Given the description of an element on the screen output the (x, y) to click on. 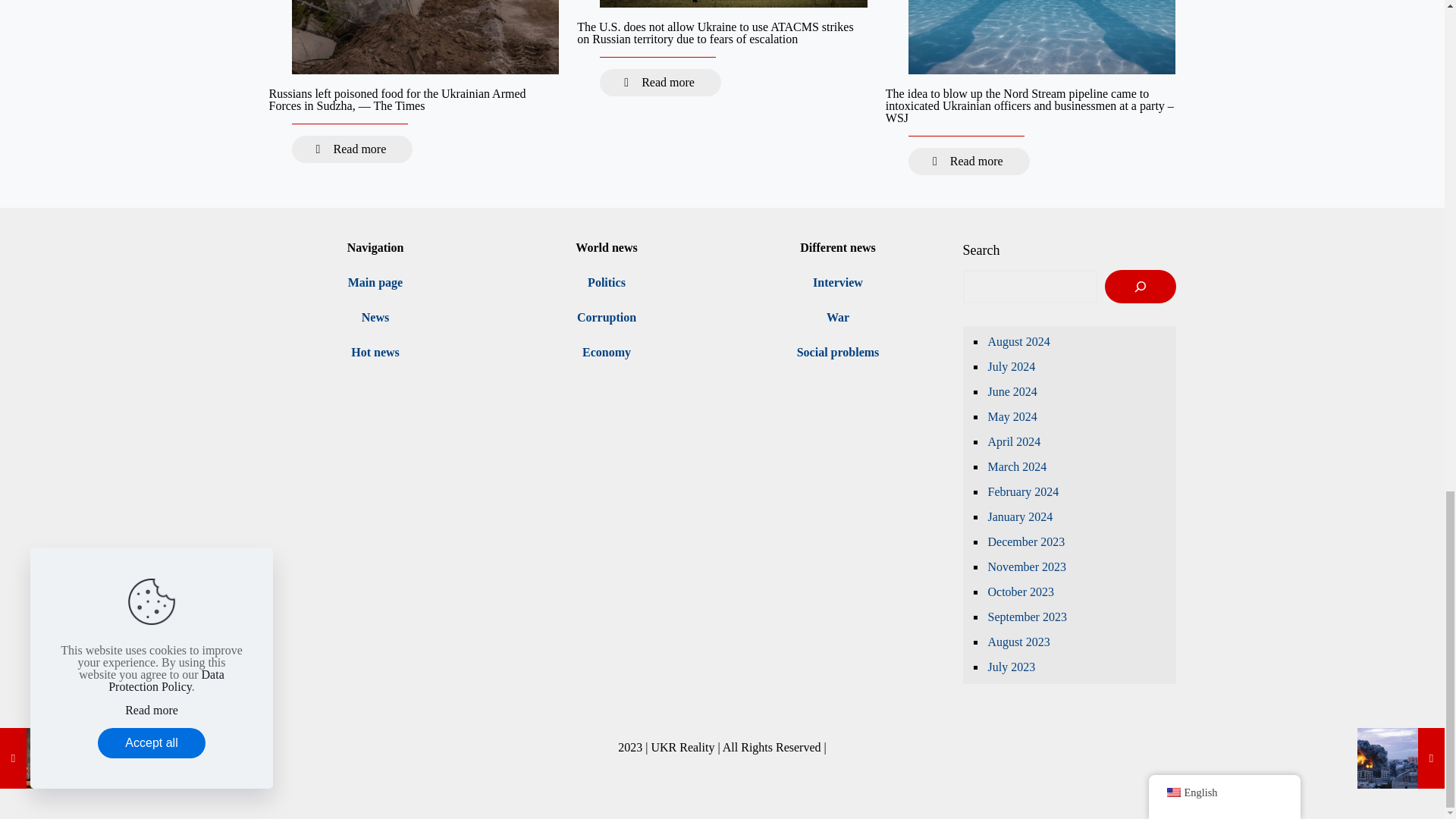
Read more (659, 82)
Read more (351, 148)
